Given the description of an element on the screen output the (x, y) to click on. 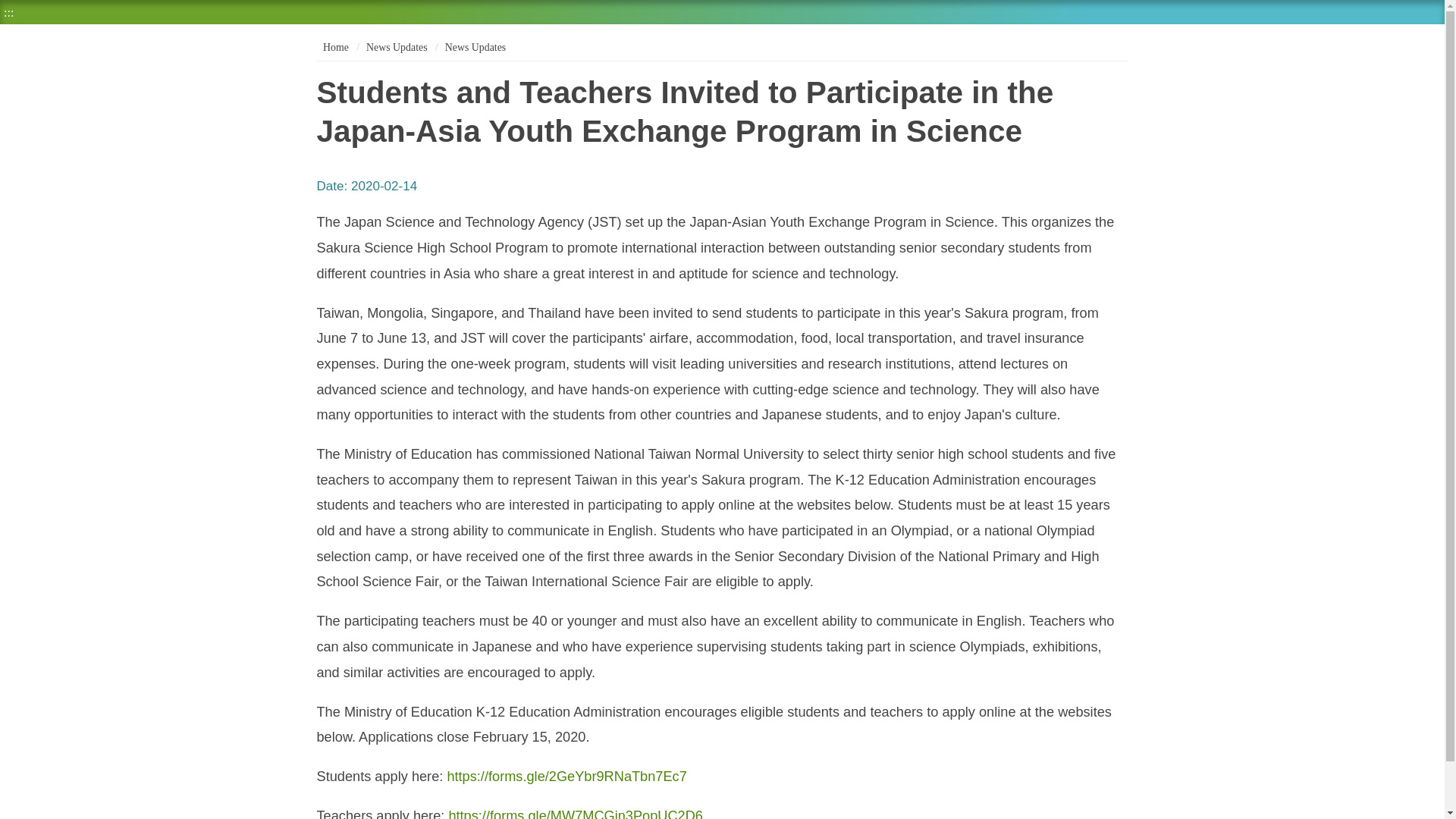
News Updates (396, 47)
News Updates (396, 47)
News Updates (475, 47)
Home (333, 47)
News Updates (475, 47)
Home (333, 47)
